Given the description of an element on the screen output the (x, y) to click on. 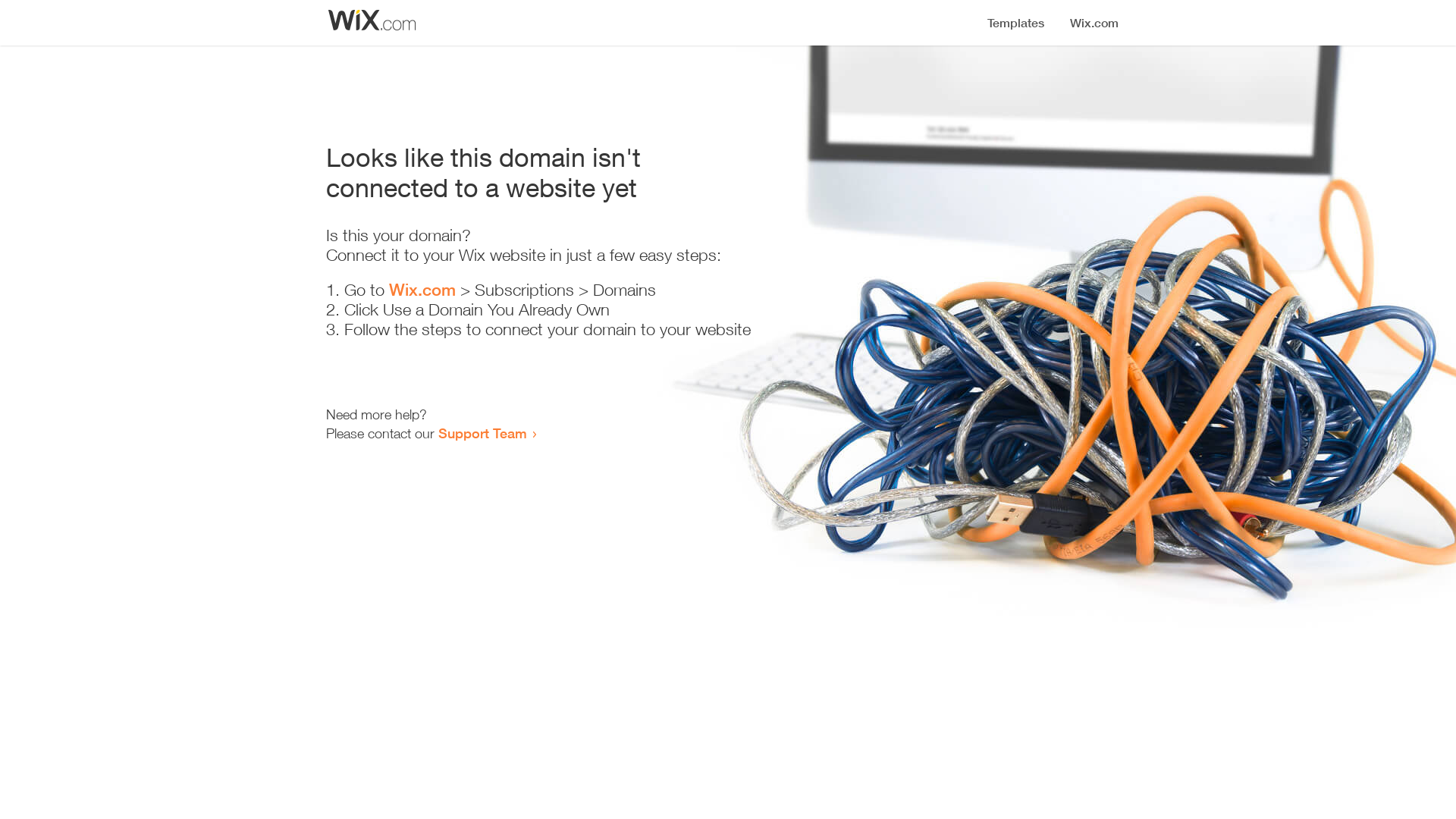
Support Team Element type: text (482, 432)
Wix.com Element type: text (422, 289)
